Given the description of an element on the screen output the (x, y) to click on. 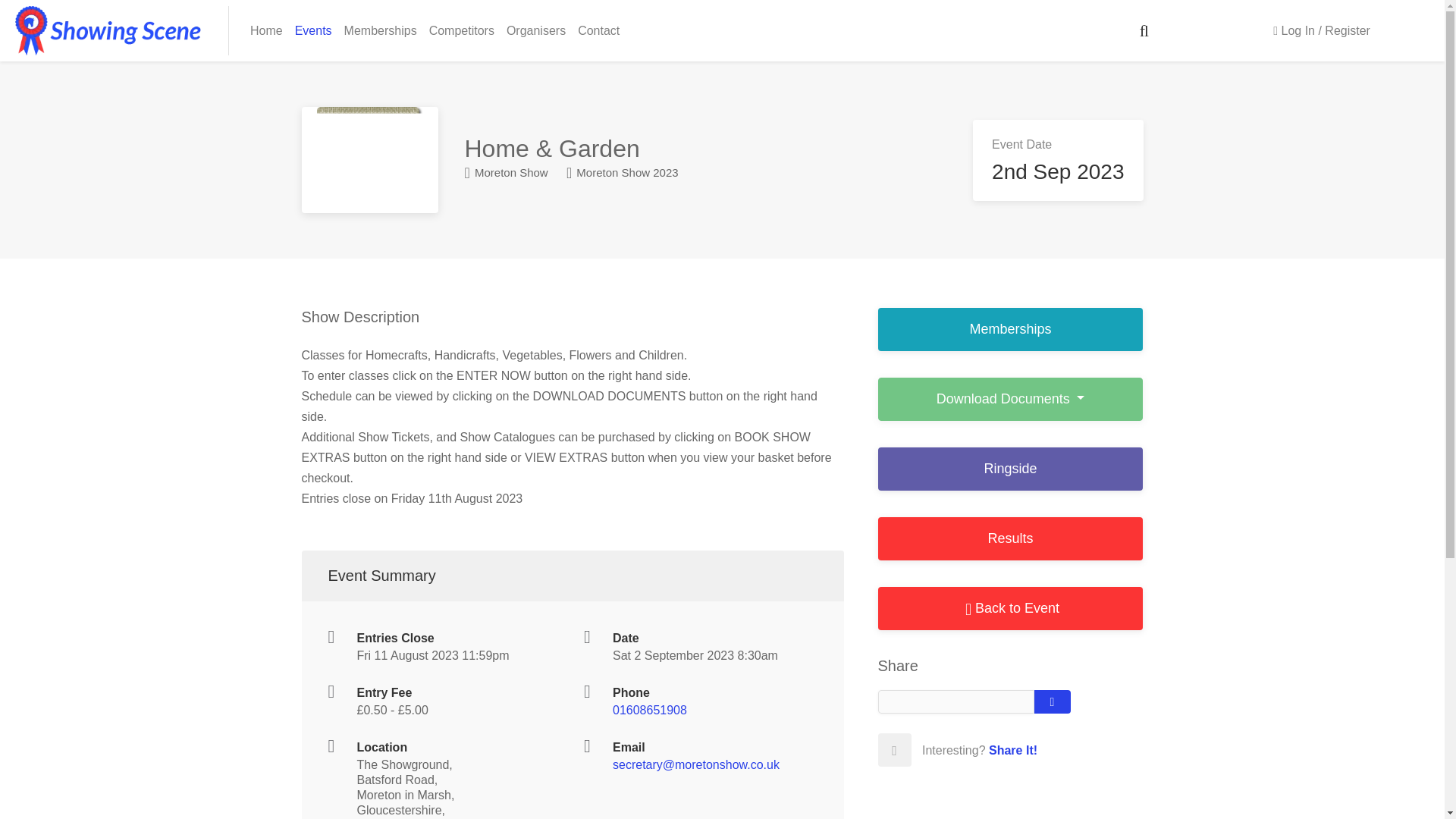
Results (1009, 538)
Memberships (1009, 329)
Moreton Show (505, 172)
Ringside (1009, 468)
Home (266, 30)
Back to Event (1009, 608)
Organisers (536, 30)
Copy to Clipboard (1051, 701)
Competitors (461, 30)
Memberships (380, 30)
